Given the description of an element on the screen output the (x, y) to click on. 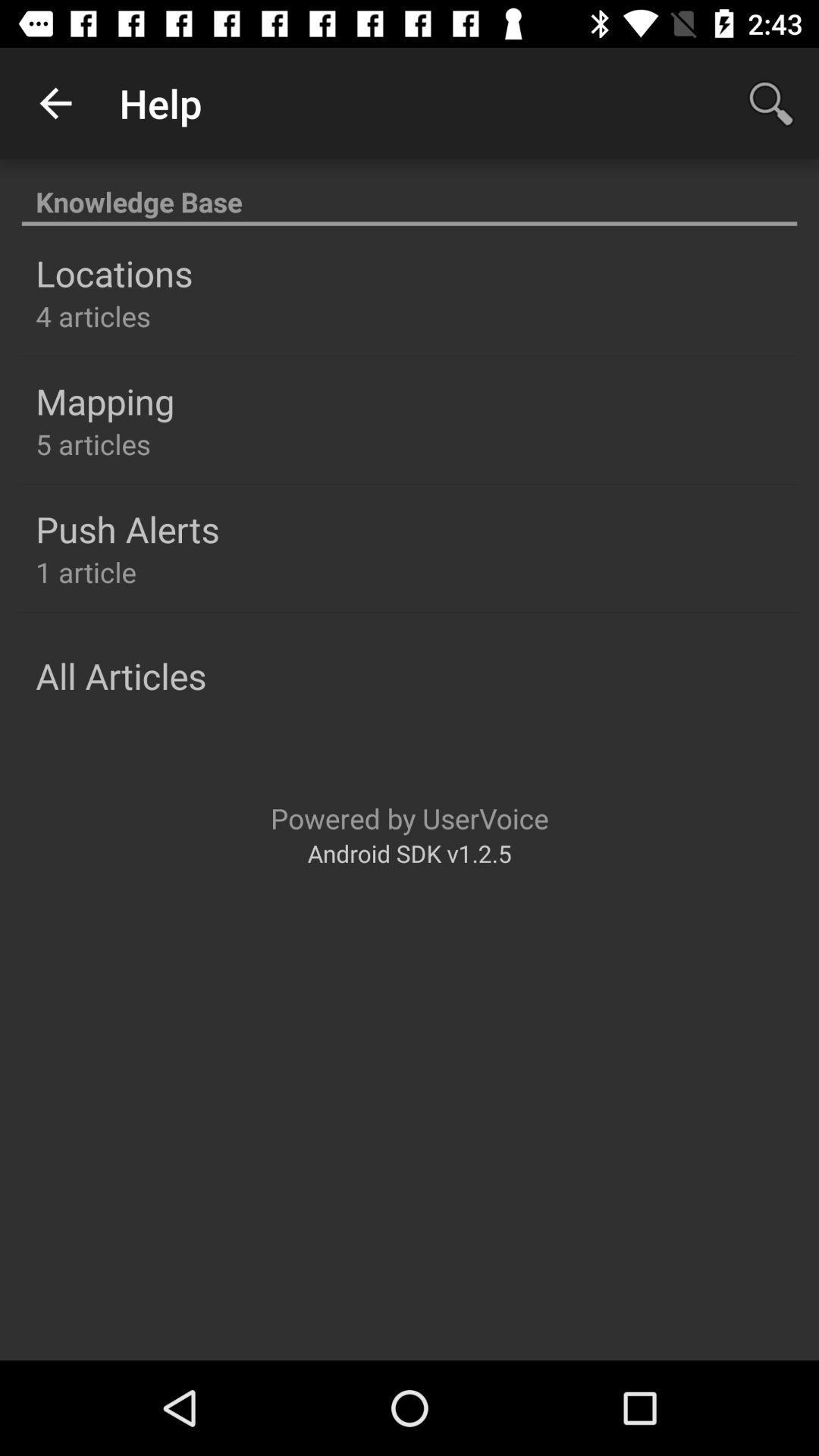
launch the powered by uservoice (409, 818)
